Given the description of an element on the screen output the (x, y) to click on. 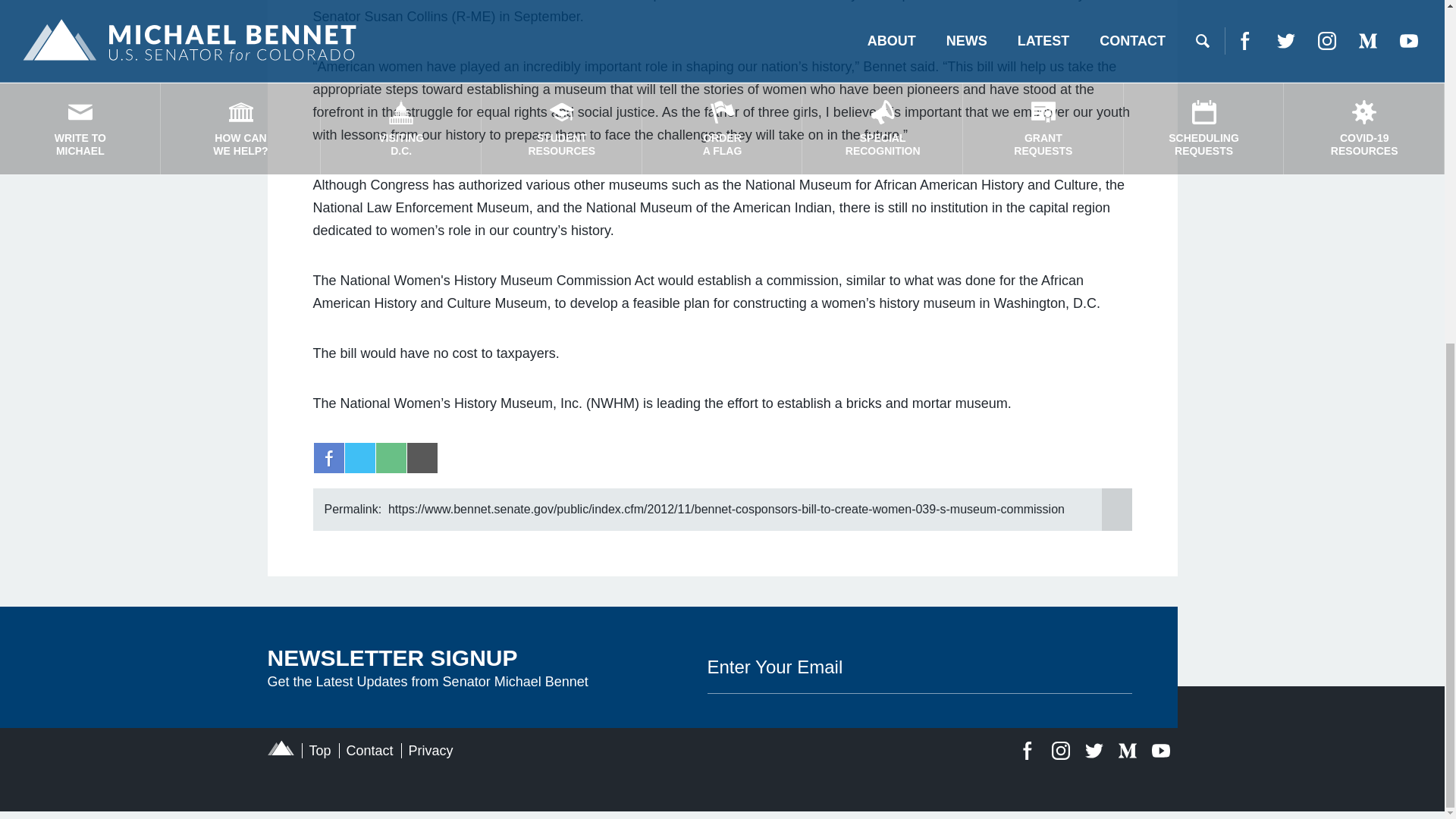
Enter Your Email (918, 666)
